Given the description of an element on the screen output the (x, y) to click on. 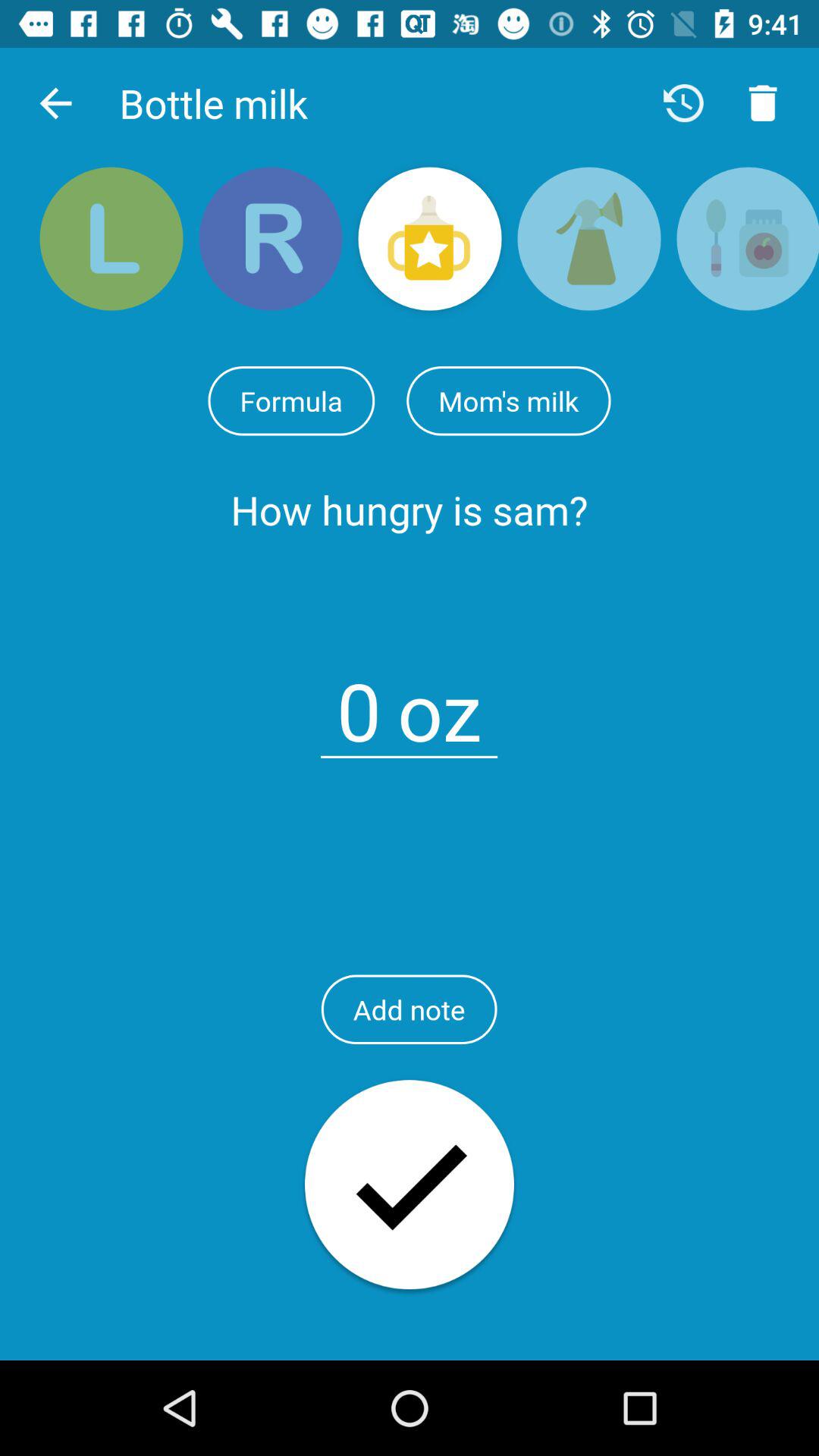
flip to formula icon (291, 400)
